Given the description of an element on the screen output the (x, y) to click on. 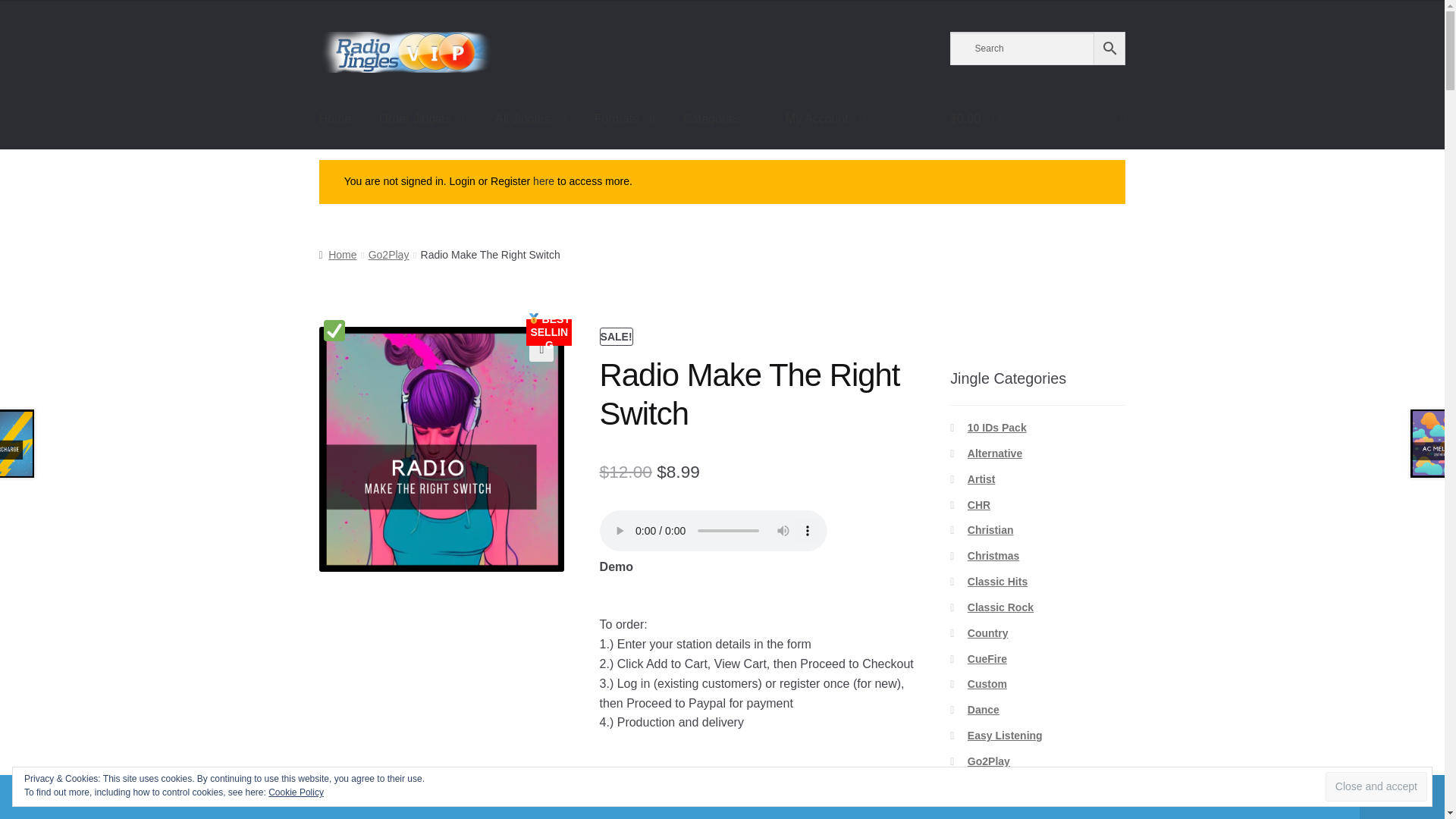
RADIO MAKE THE RIGHT SWITCH (441, 449)
Categories (719, 118)
Close and accept (1375, 786)
View your shopping cart (1037, 118)
Order Jingles (423, 118)
All Jingles (530, 118)
Home (335, 118)
Formats (623, 118)
